Given the description of an element on the screen output the (x, y) to click on. 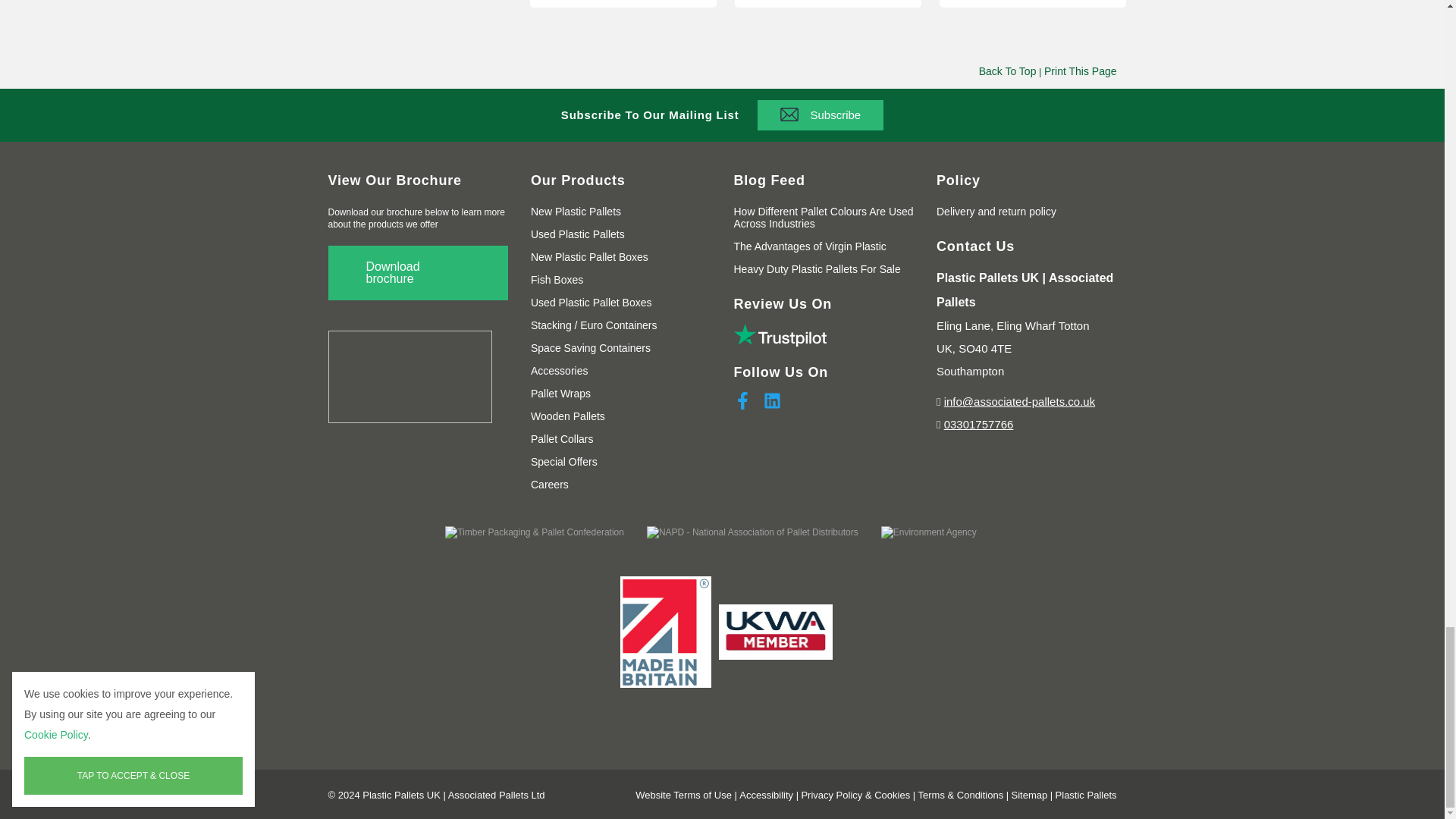
Look Heavy Duty Plastic Pallets For Sale (817, 268)
Print This Page (1079, 70)
Look The Advantages of Virgin Plastic (809, 246)
Associated Pallets Brochure (417, 272)
NAPD - National Association of Pallet Distributors (752, 532)
Look How Different Pallet Colours Are Used Across Industries (823, 217)
